Given the description of an element on the screen output the (x, y) to click on. 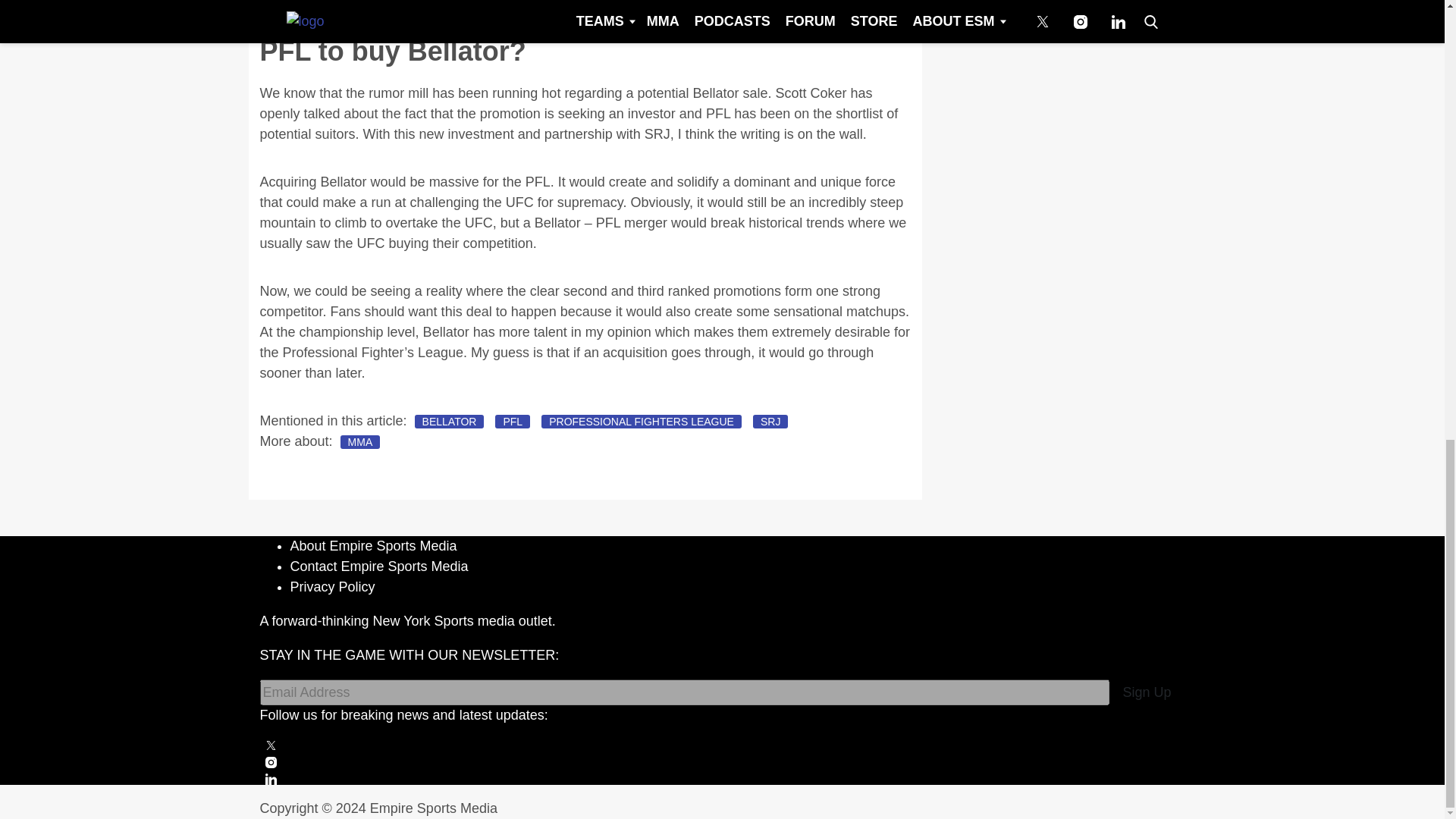
SRJ (769, 421)
Sign Up (1145, 692)
Follow us on Twitter (722, 745)
Contact Empire Sports Media (378, 566)
PROFESSIONAL FIGHTERS LEAGUE (641, 421)
About Empire Sports Media (373, 545)
Follow us on Instagram (722, 762)
MMA (360, 441)
Privacy Policy (331, 586)
PFL (512, 421)
